Given the description of an element on the screen output the (x, y) to click on. 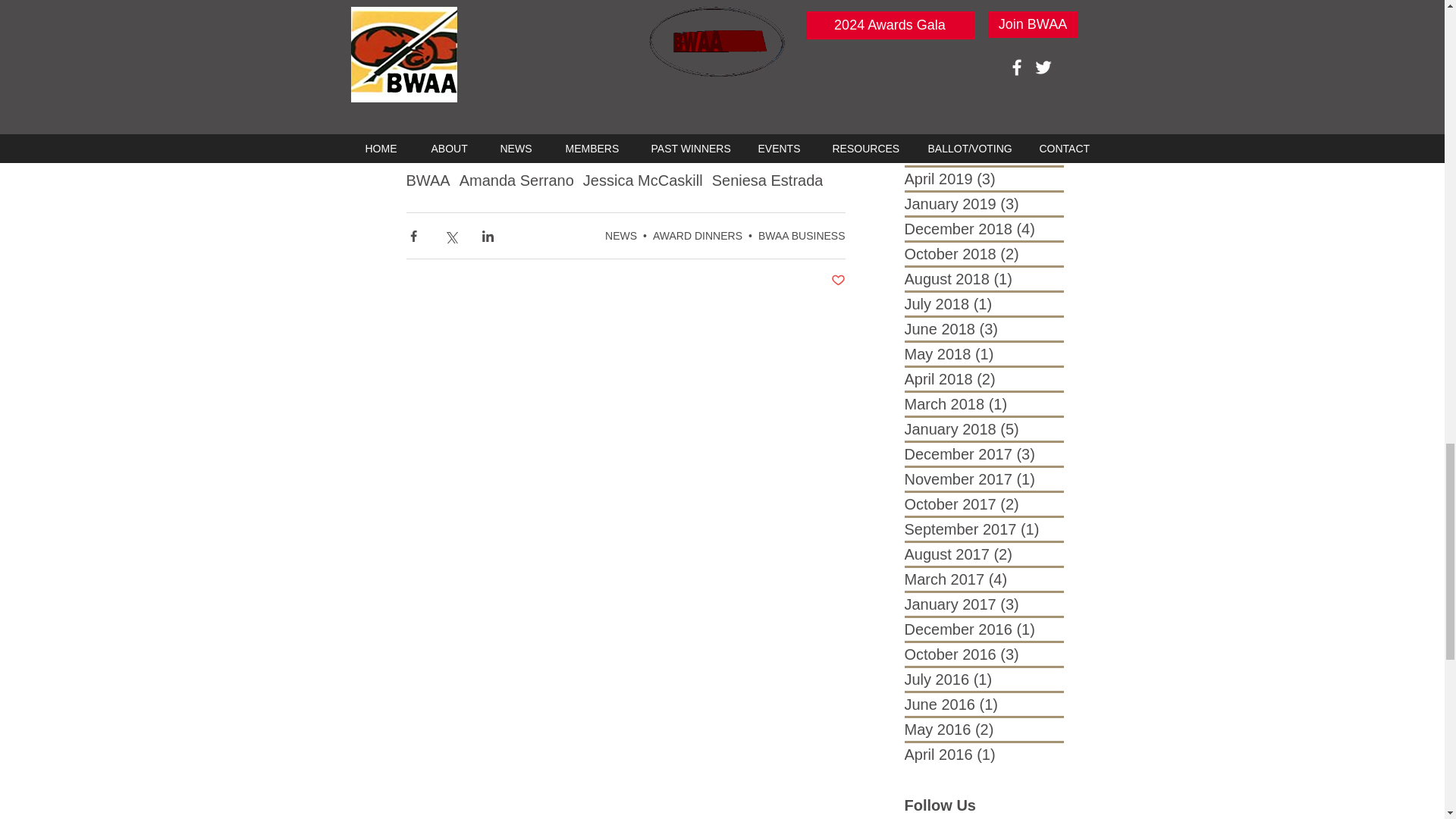
Jessica McCaskill (643, 180)
BWAA BUSINESS (801, 235)
BWAA (427, 180)
AWARD DINNERS (697, 235)
Amanda Serrano (516, 180)
Seniesa Estrada (767, 180)
Post not marked as liked (838, 280)
NEWS (621, 235)
